Given the description of an element on the screen output the (x, y) to click on. 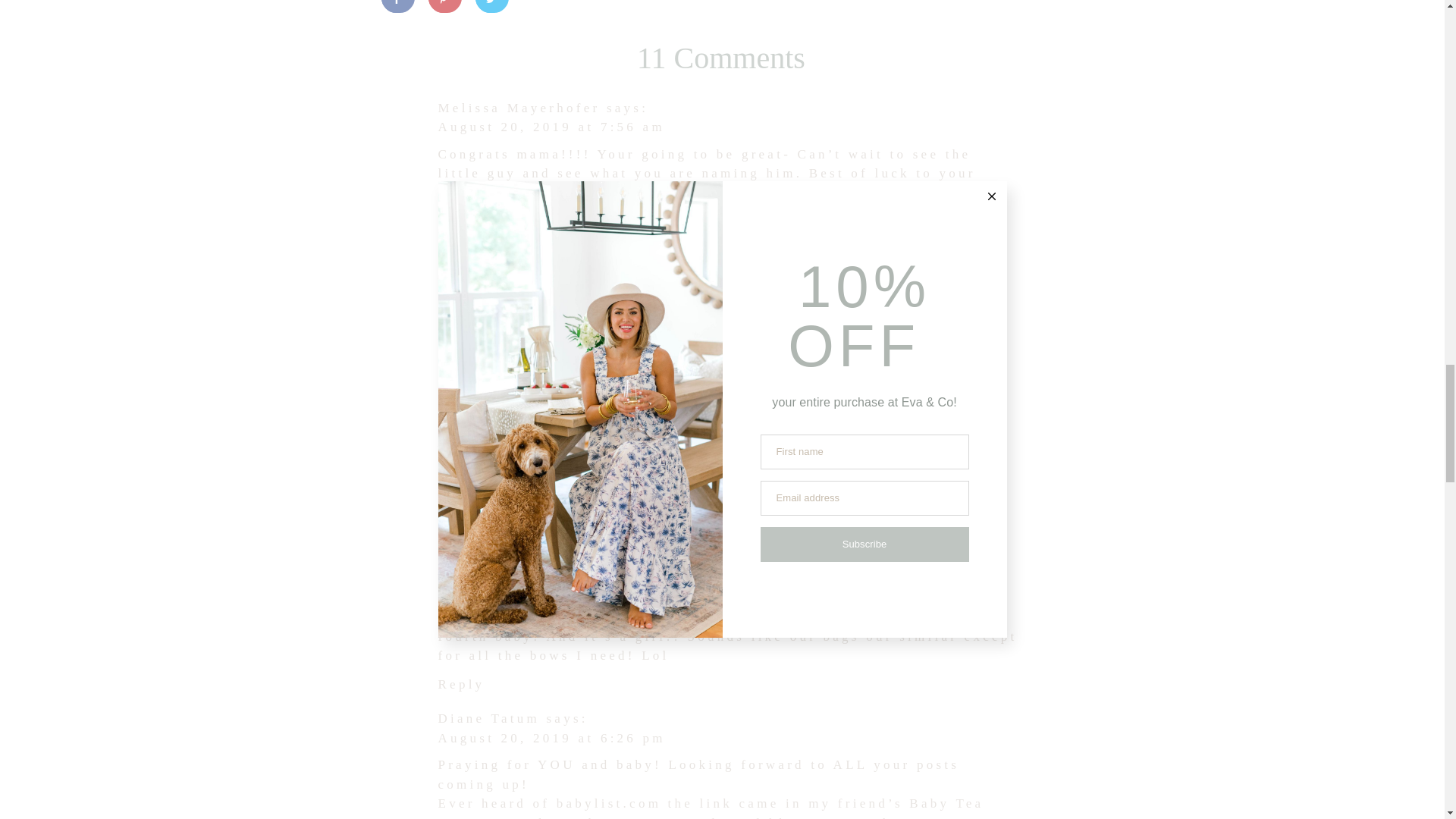
August 20, 2019 at 7:56 am (551, 126)
Save to Pinterest (444, 6)
Celsey (465, 403)
August 20, 2019 at 9:35 am (551, 274)
Share on  (491, 6)
Share on  (537, 6)
Share on  (396, 6)
Reply (461, 368)
Reply (461, 220)
